Given the description of an element on the screen output the (x, y) to click on. 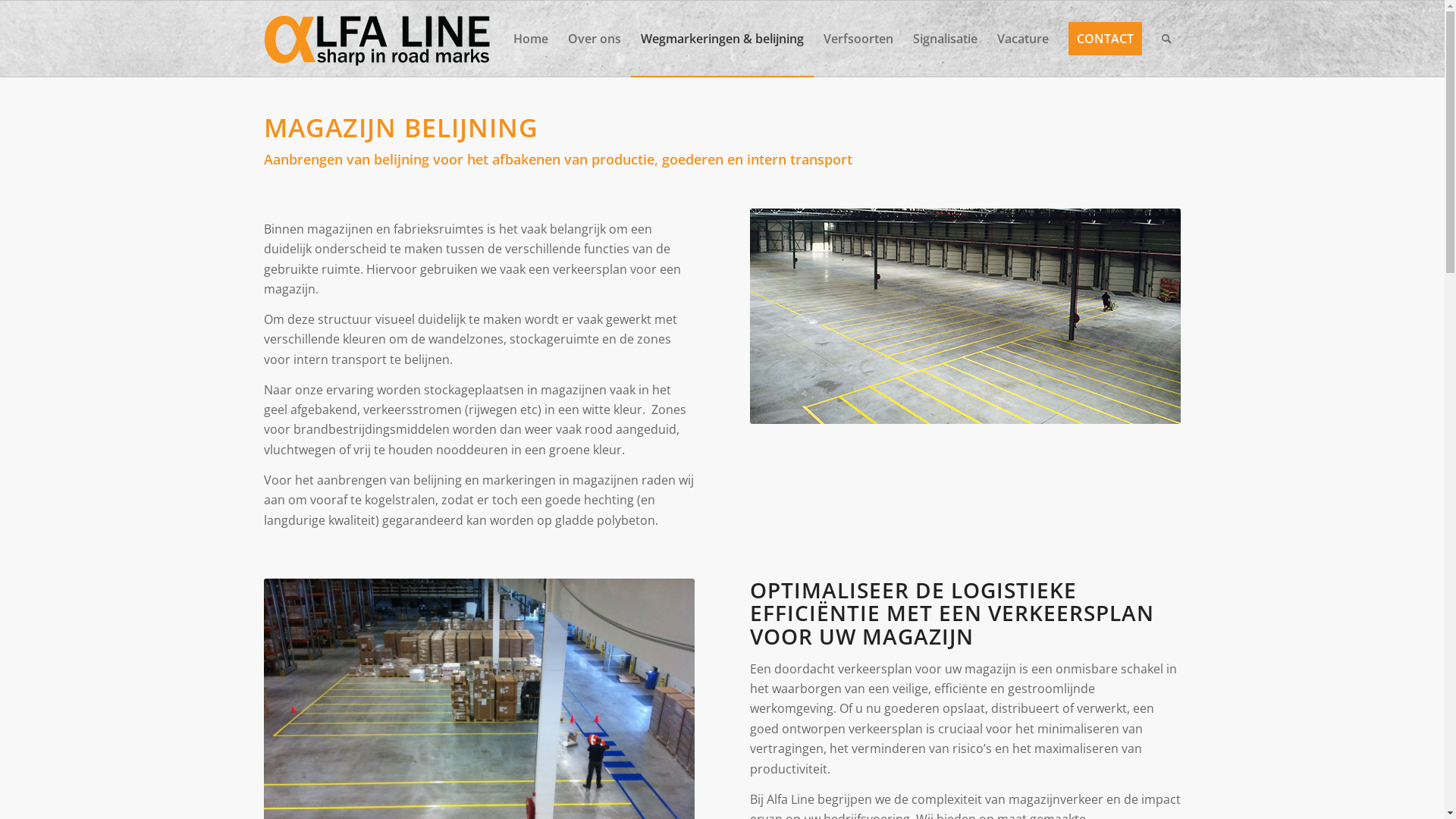
logo-200-px Element type: hover (377, 38)
Verfsoorten Element type: text (857, 38)
Over ons Element type: text (594, 38)
IMG_3326 Element type: hover (964, 315)
Signalisatie Element type: text (944, 38)
Vacature Element type: text (1022, 38)
Home Element type: text (530, 38)
CONTACT Element type: text (1104, 38)
Wegmarkeringen & belijning Element type: text (721, 38)
